Given the description of an element on the screen output the (x, y) to click on. 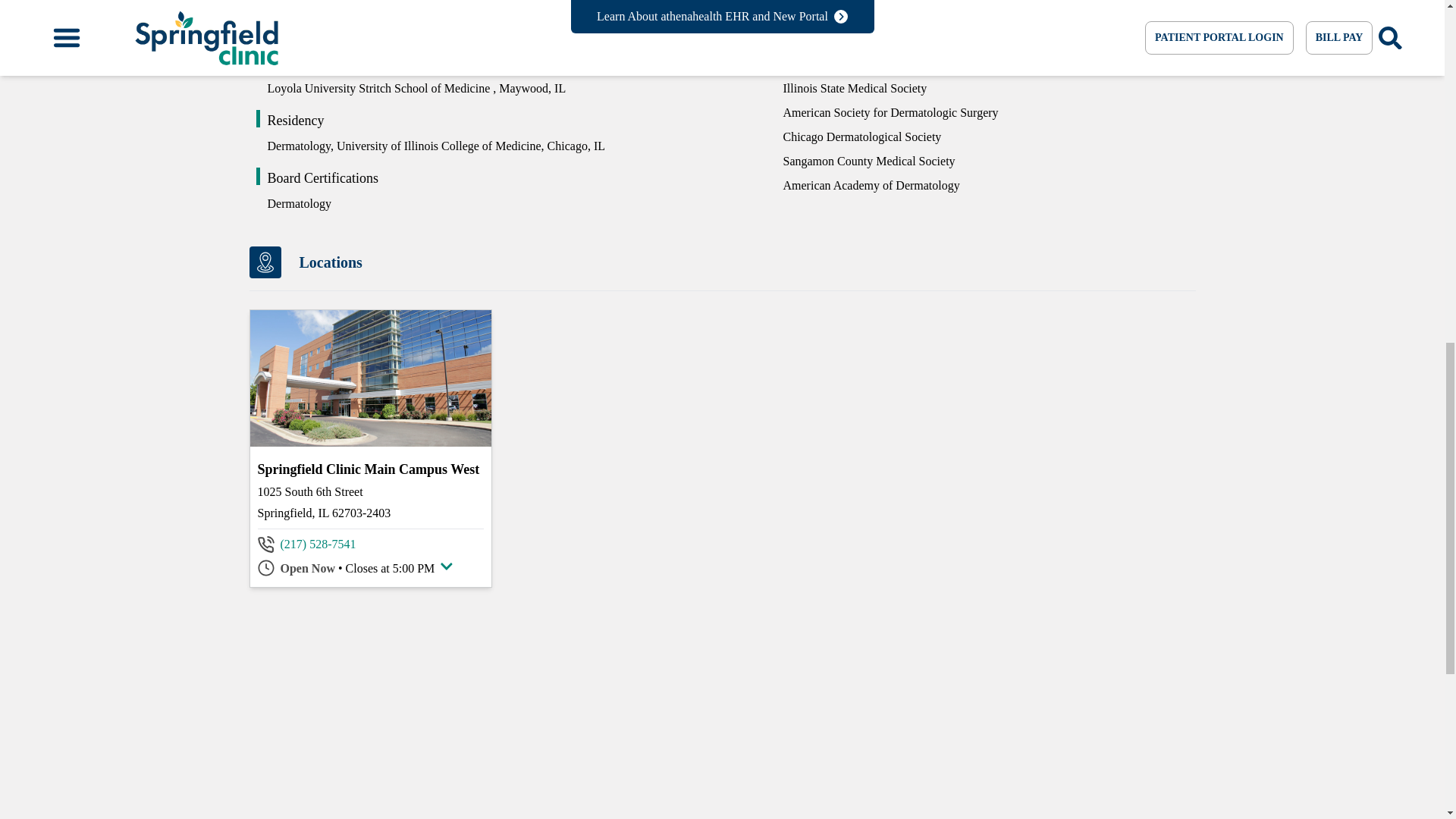
Phone (318, 544)
Location Image (371, 377)
View Location (370, 468)
Springfield Clinic Main Campus West (370, 468)
